Given the description of an element on the screen output the (x, y) to click on. 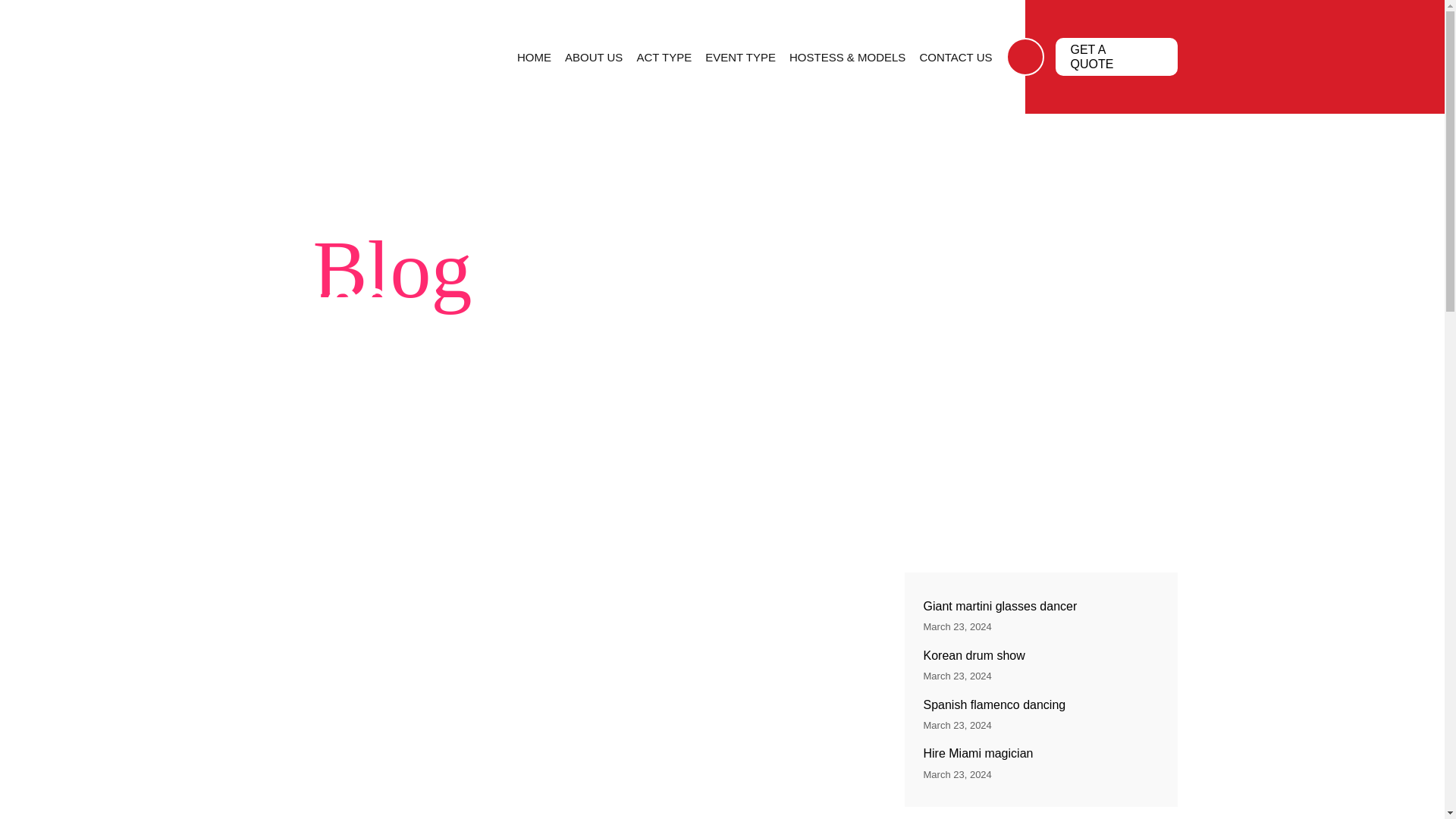
ABOUT US (593, 56)
